Given the description of an element on the screen output the (x, y) to click on. 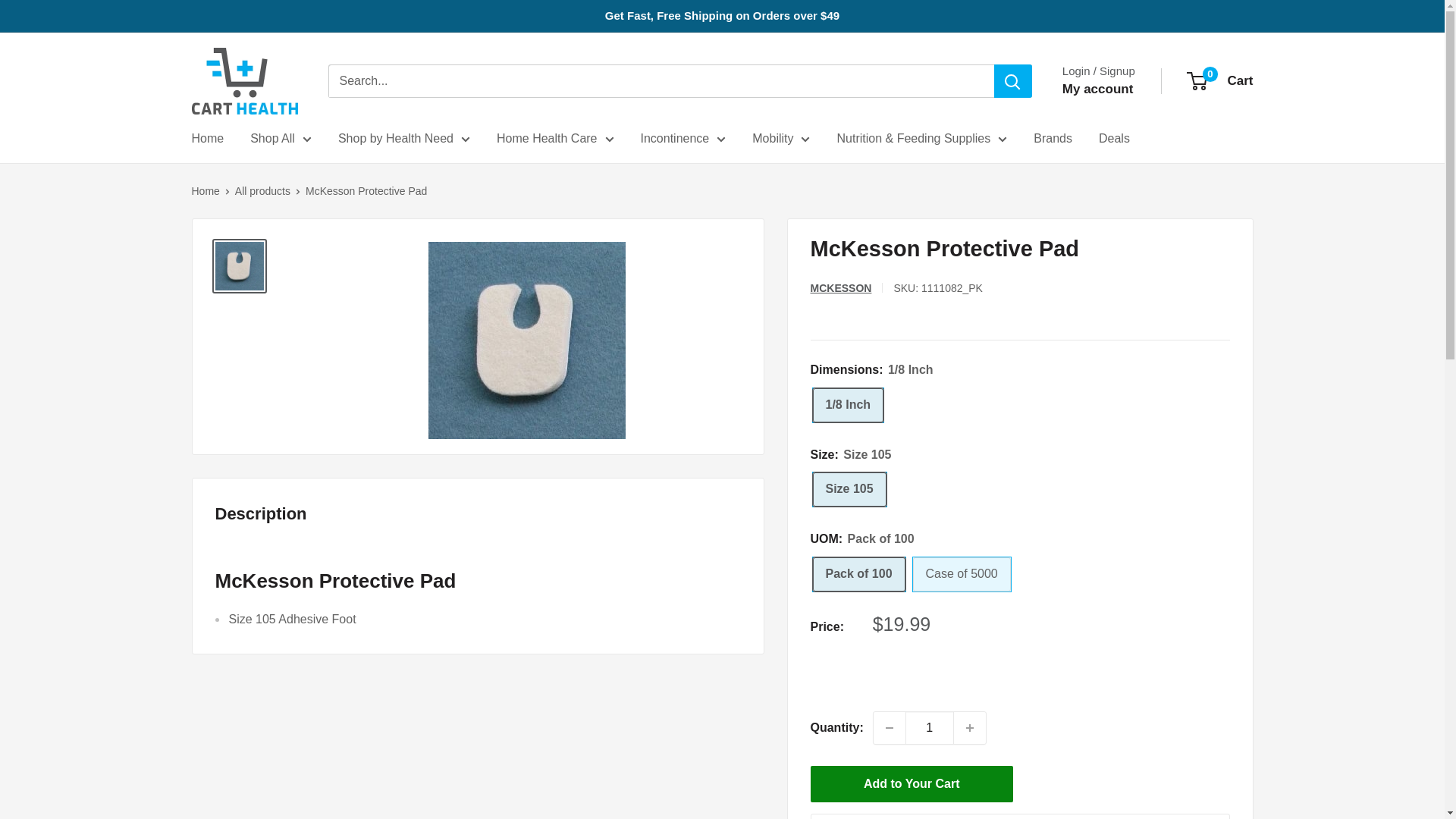
Home (207, 138)
Increase quantity by 1 (969, 727)
Cart Health Logo (243, 80)
Shop All (1220, 80)
My account (280, 138)
Case of 5000 (1098, 88)
Pack of 100 (961, 574)
1 (858, 574)
Cart Health (929, 727)
Decrease quantity by 1 (243, 80)
Size 105 (889, 727)
